Given the description of an element on the screen output the (x, y) to click on. 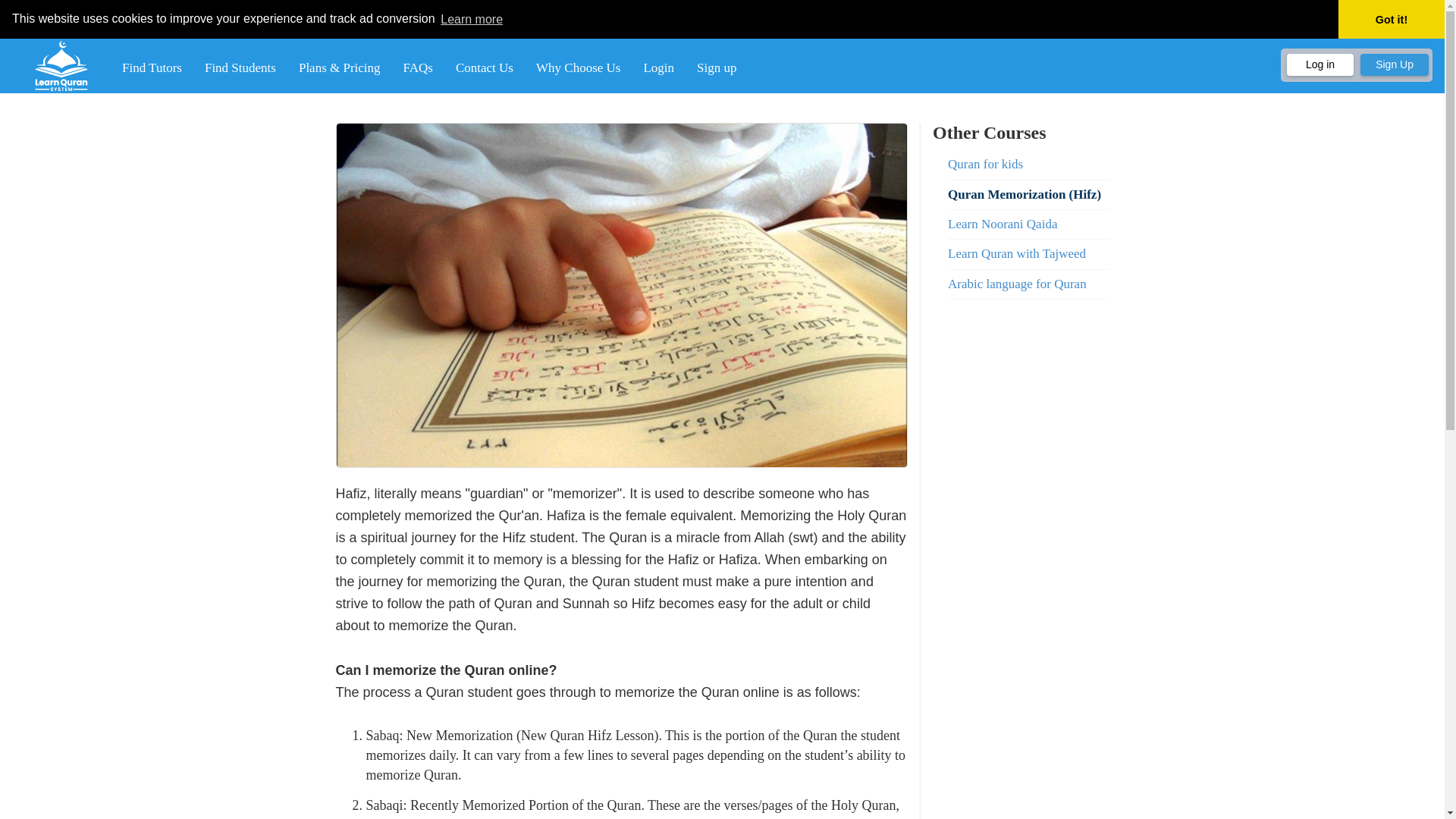
Find Tutors (151, 67)
FAQs (417, 67)
Quran for kids (1028, 164)
Find Students (239, 67)
Learn Quran with Tajweed (1028, 253)
Contact Us (484, 67)
Sign Up (1393, 65)
Arabic language for Quran (1028, 284)
Log in (1320, 65)
Why Choose Us (577, 67)
Learn more (471, 18)
Learn Noorani Qaida (1028, 224)
Learn Quran System (60, 65)
Sign up (716, 67)
Login (658, 67)
